Given the description of an element on the screen output the (x, y) to click on. 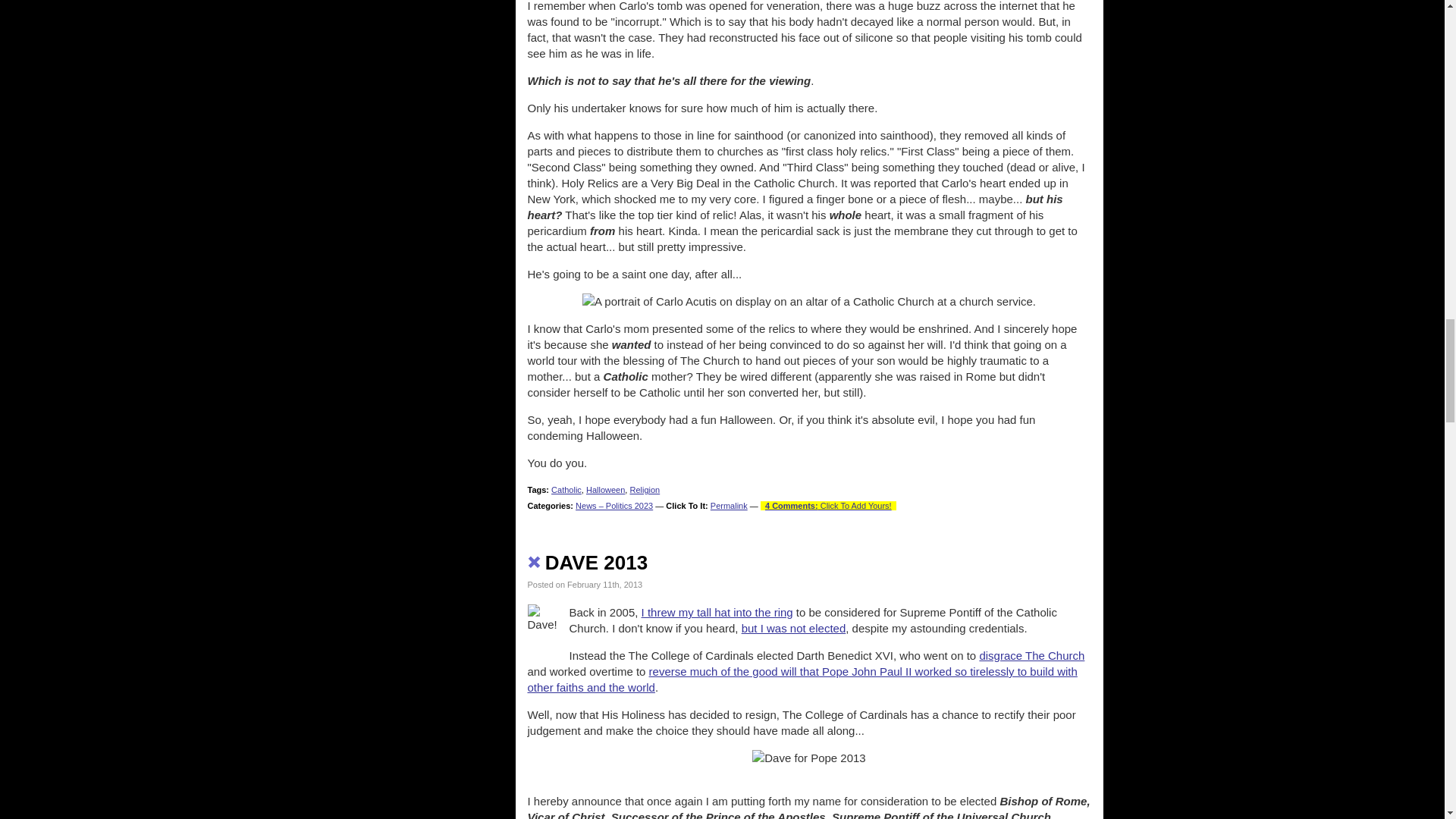
Catholic (565, 489)
Religion (643, 489)
Permalink (729, 505)
Halloween (605, 489)
